Given the description of an element on the screen output the (x, y) to click on. 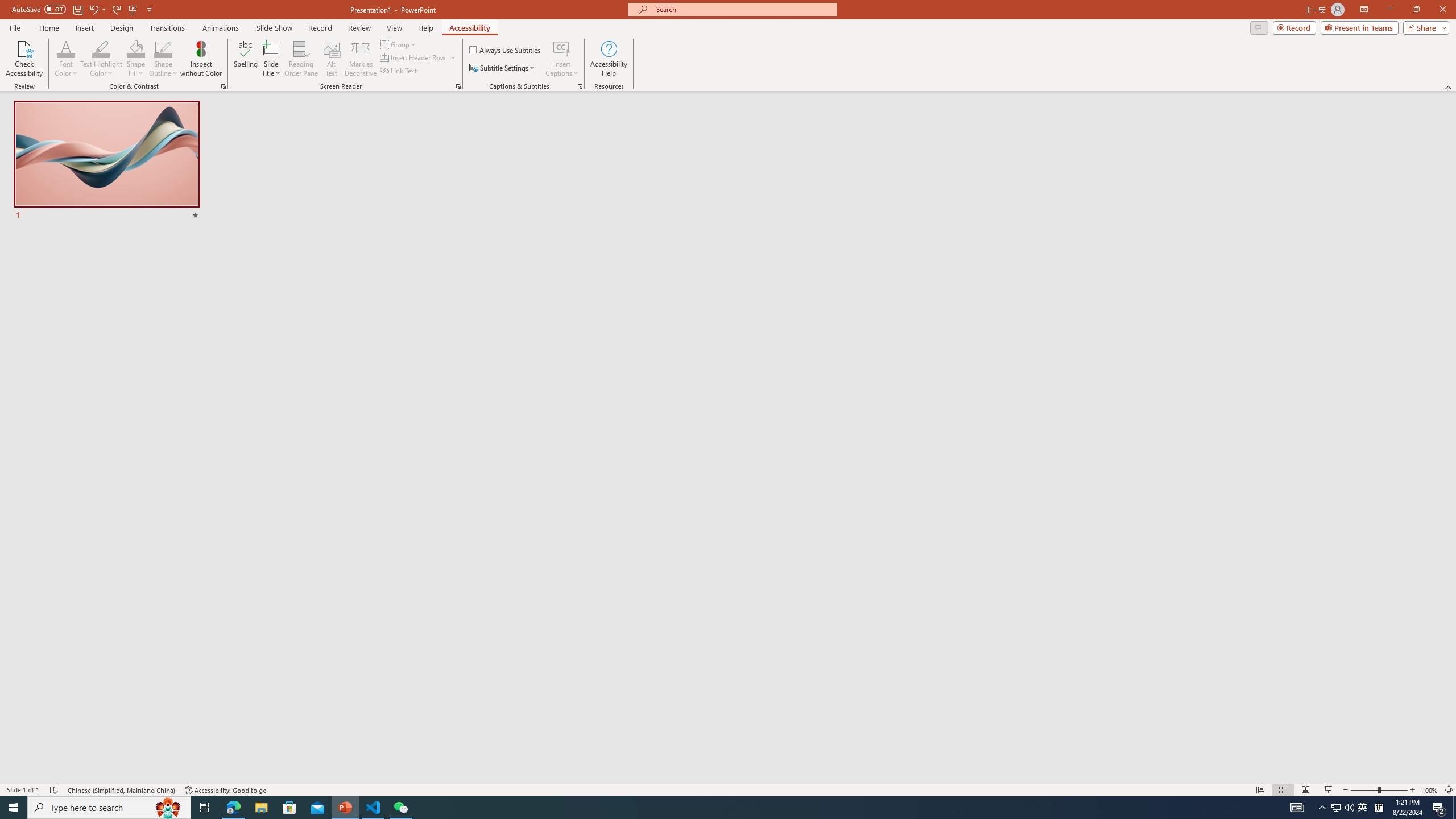
Slide Title (271, 48)
